Given the description of an element on the screen output the (x, y) to click on. 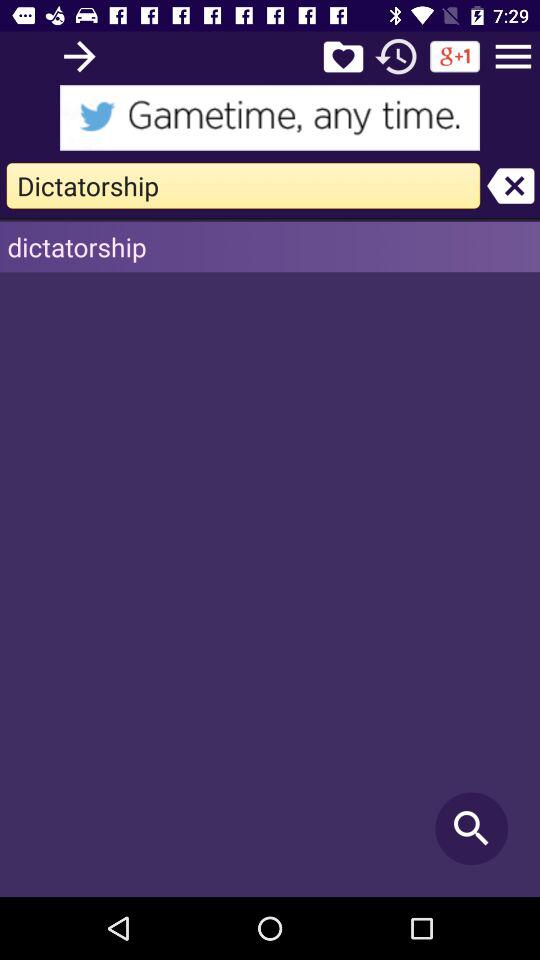
go to next (79, 56)
